Given the description of an element on the screen output the (x, y) to click on. 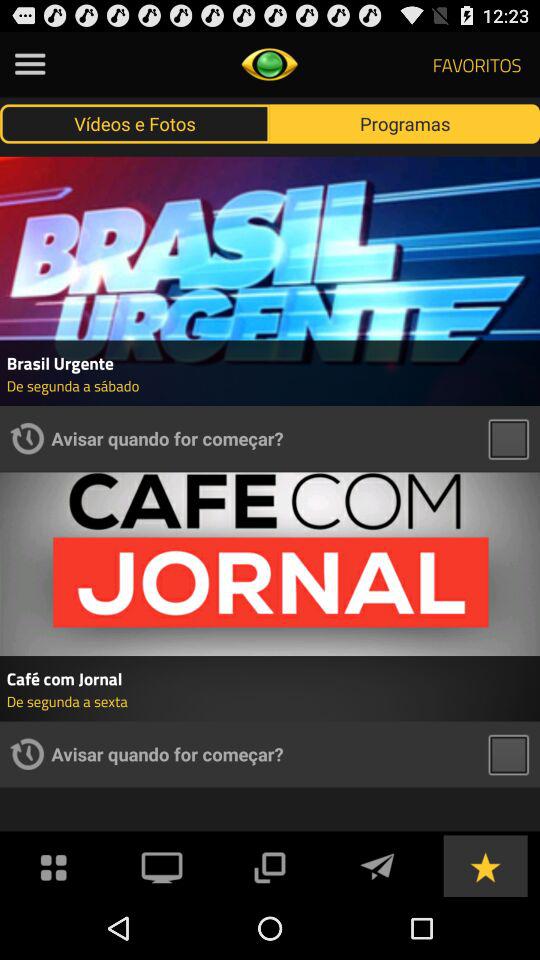
turn on the app below avisar quando for app (269, 864)
